Given the description of an element on the screen output the (x, y) to click on. 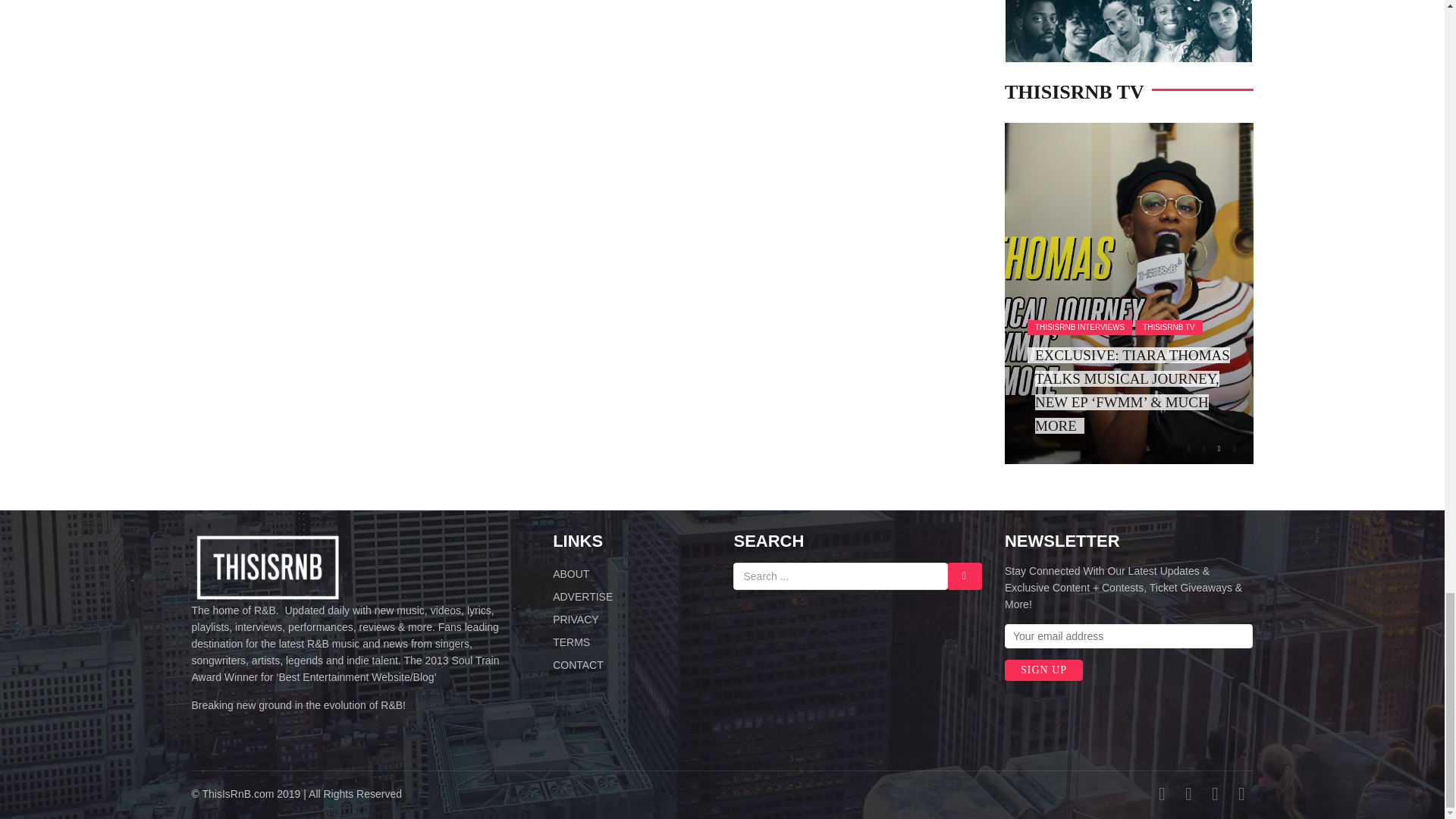
Sign up (1043, 670)
